Given the description of an element on the screen output the (x, y) to click on. 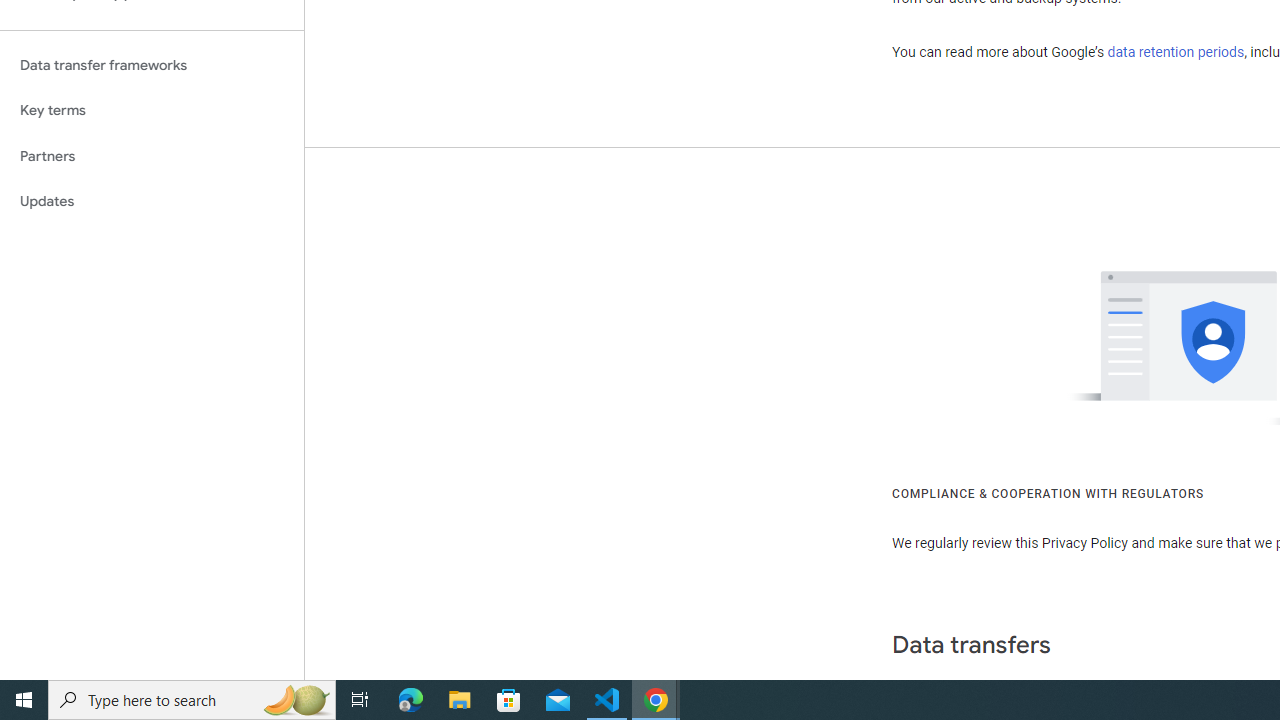
data retention periods (1176, 52)
Data transfer frameworks (152, 65)
Key terms (152, 110)
Partners (152, 156)
